Given the description of an element on the screen output the (x, y) to click on. 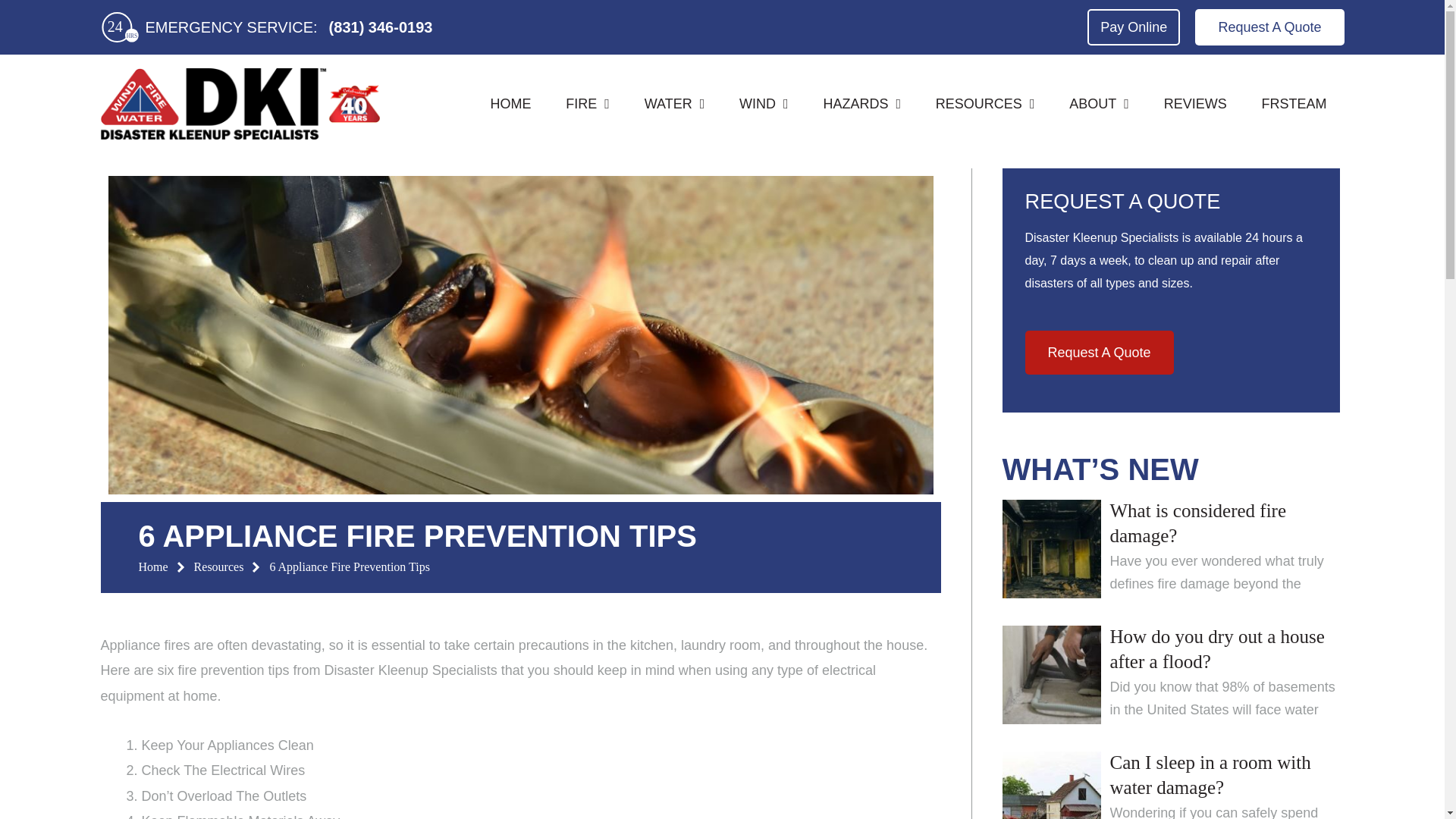
WIND (763, 103)
FIRE (587, 103)
RESOURCES (984, 103)
Pay Online (1133, 27)
HAZARDS (862, 103)
24 Hours White (119, 26)
ABOUT (1098, 103)
HOME (510, 103)
Request A Quote (1269, 27)
WATER (674, 103)
